Given the description of an element on the screen output the (x, y) to click on. 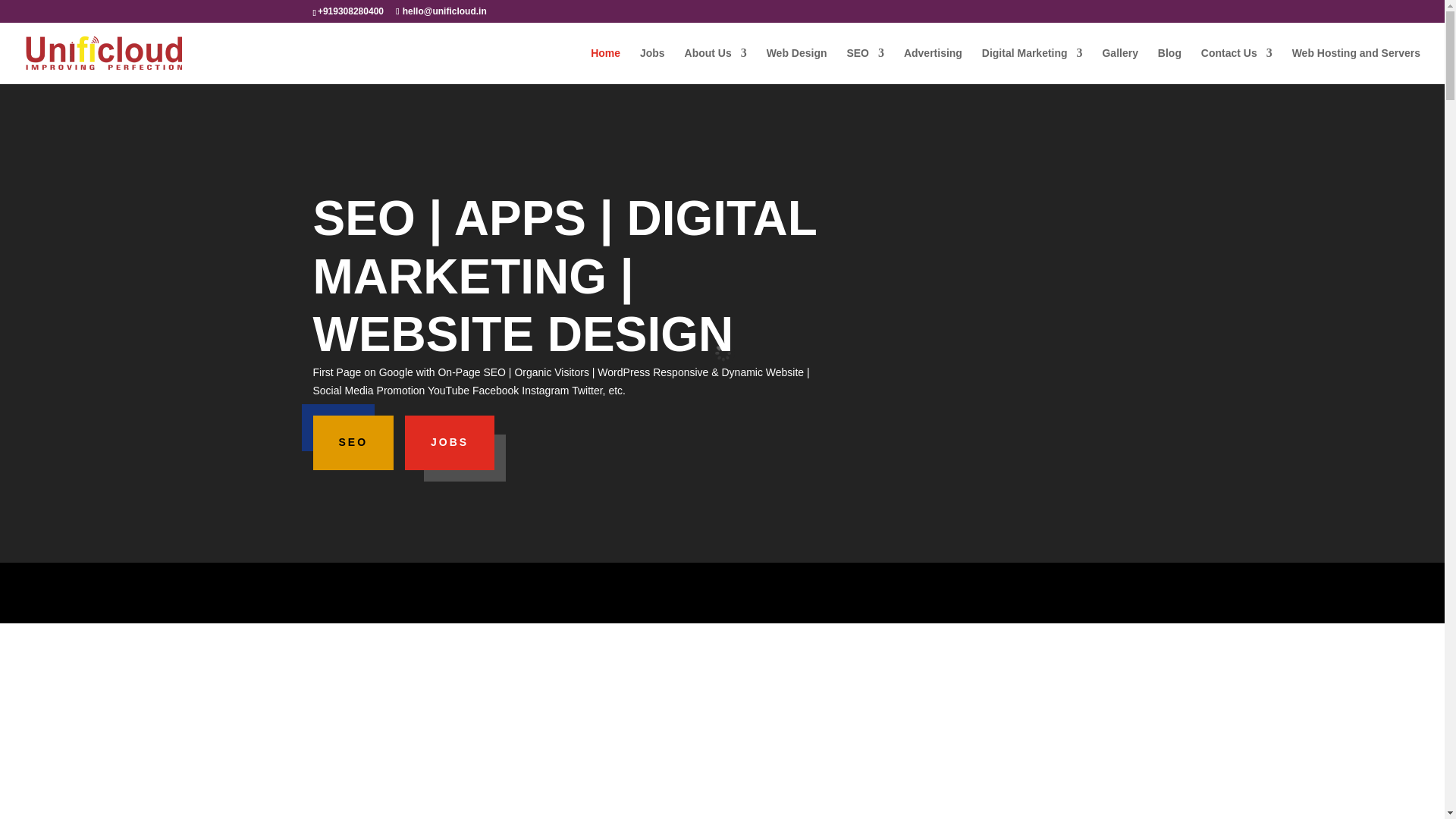
About Us (715, 65)
Gallery (1119, 65)
Digital Marketing (1032, 65)
Contact Us (1236, 65)
Web Hosting and Servers (1356, 65)
Web Design (797, 65)
JOBS (449, 442)
SEO (864, 65)
Advertising (933, 65)
SEO (353, 442)
